Given the description of an element on the screen output the (x, y) to click on. 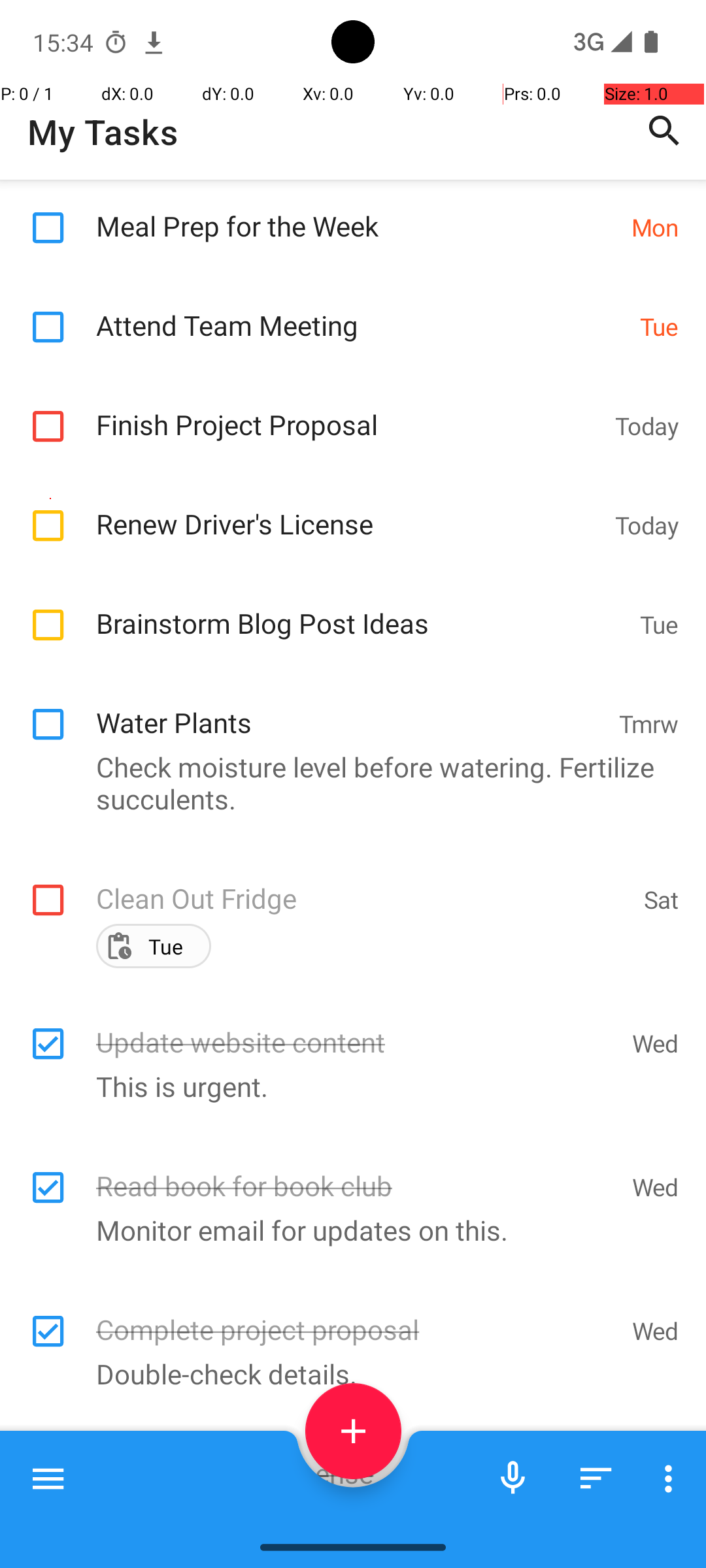
Update website content Element type: android.widget.TextView (357, 1027)
This is urgent. Element type: android.widget.TextView (346, 1085)
Read book for book club Element type: android.widget.TextView (357, 1171)
Complete project proposal Element type: android.widget.TextView (357, 1315)
Double-check details. Element type: android.widget.TextView (346, 1373)
